Given the description of an element on the screen output the (x, y) to click on. 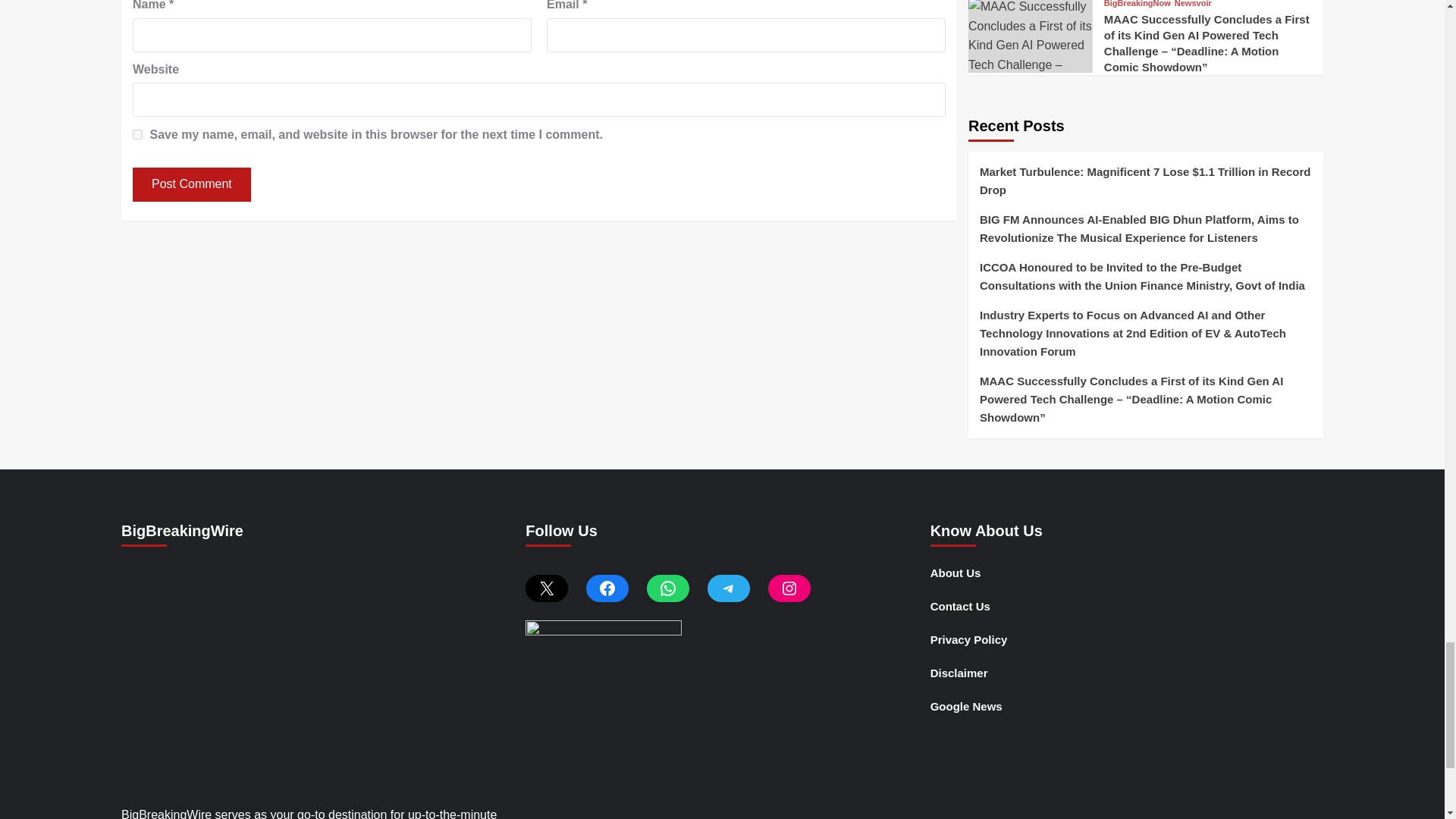
Post Comment (191, 184)
yes (137, 134)
